Given the description of an element on the screen output the (x, y) to click on. 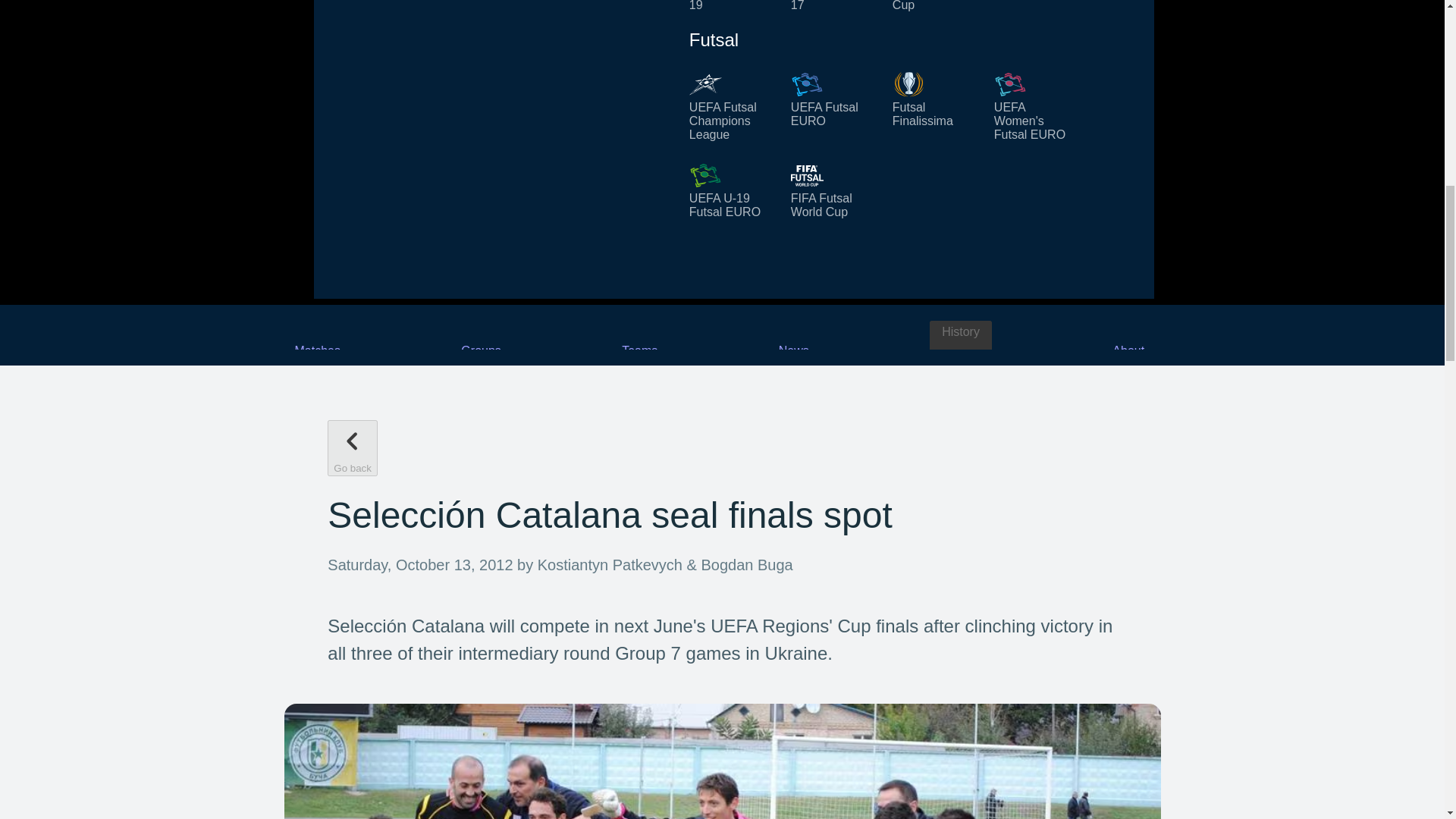
UEFA Under-19 (730, 6)
UEFA Under-17 (832, 6)
UEFA Regions' Cup (933, 6)
